Given the description of an element on the screen output the (x, y) to click on. 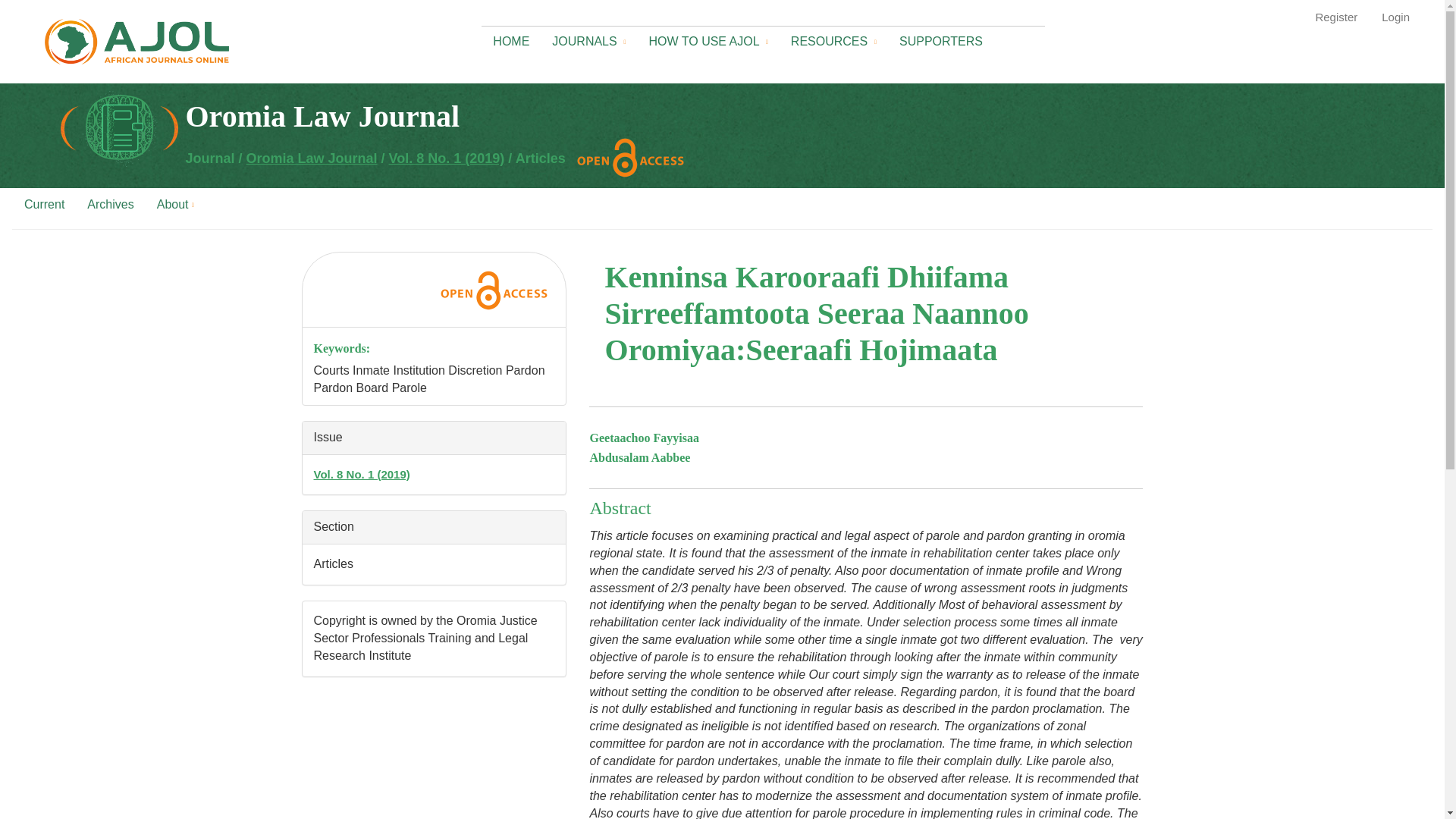
Oromia Law Journal (311, 158)
Archives (109, 200)
Login (1395, 16)
About (175, 200)
JOURNALS   (588, 37)
SUPPORTERS   (944, 37)
Open Access (493, 289)
RESOURCES   (833, 37)
HOW TO USE AJOL   (707, 37)
Register (1335, 16)
Current (44, 200)
Open Access (630, 157)
HOME (510, 37)
